Given the description of an element on the screen output the (x, y) to click on. 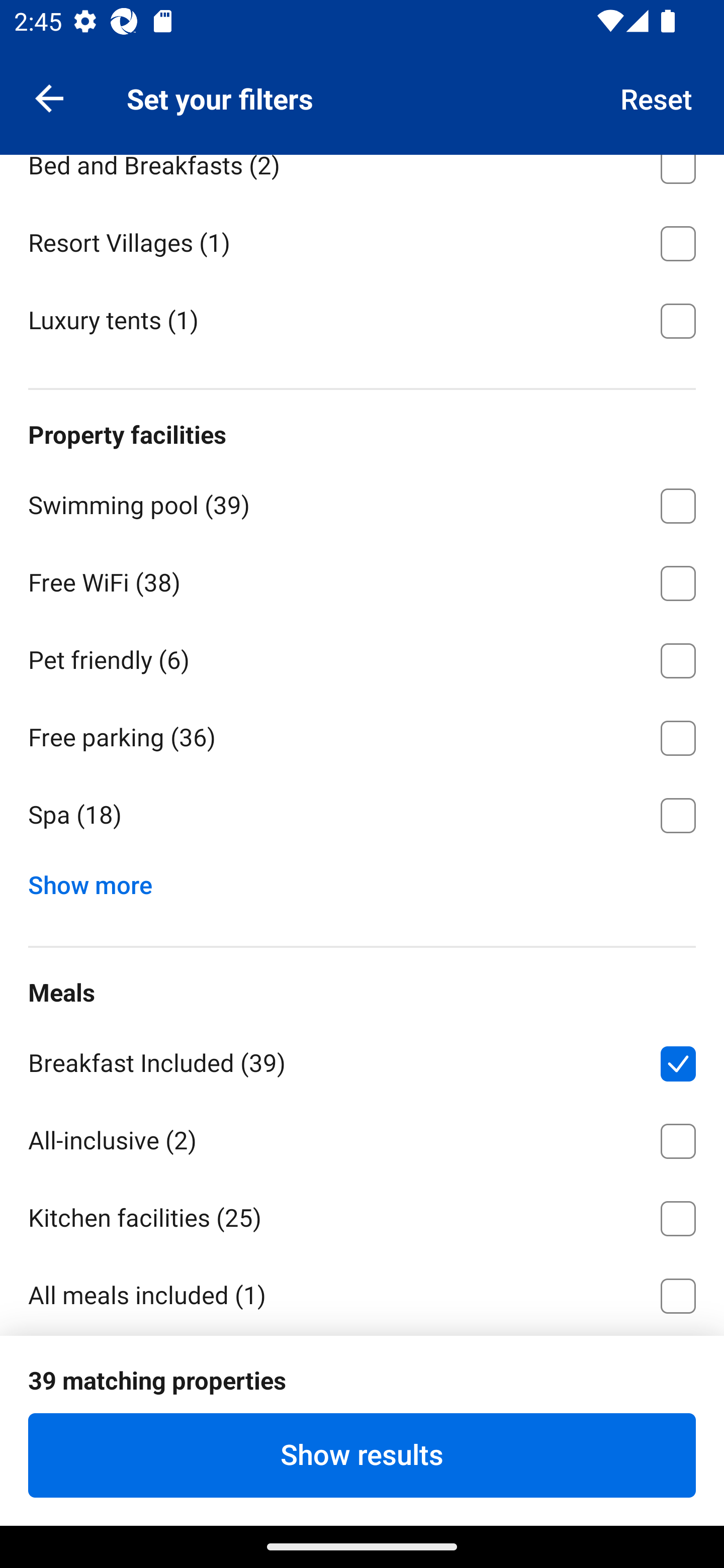
Guesthouses ⁦(2) (361, 85)
Navigate up (49, 97)
Reset (656, 97)
Bed and Breakfasts ⁦(2) (361, 178)
Resort Villages ⁦(1) (361, 240)
Luxury tents ⁦(1) (361, 319)
Swimming pool ⁦(39) (361, 502)
Free WiFi ⁦(38) (361, 579)
Pet friendly ⁦(6) (361, 657)
Free parking ⁦(36) (361, 734)
Spa ⁦(18) (361, 815)
Show more (97, 880)
Breakfast Included ⁦(39) (361, 1060)
All-inclusive ⁦(2) (361, 1137)
Kitchen facilities ⁦(25) (361, 1215)
All meals included ⁦(1) (361, 1294)
Show results (361, 1454)
